Given the description of an element on the screen output the (x, y) to click on. 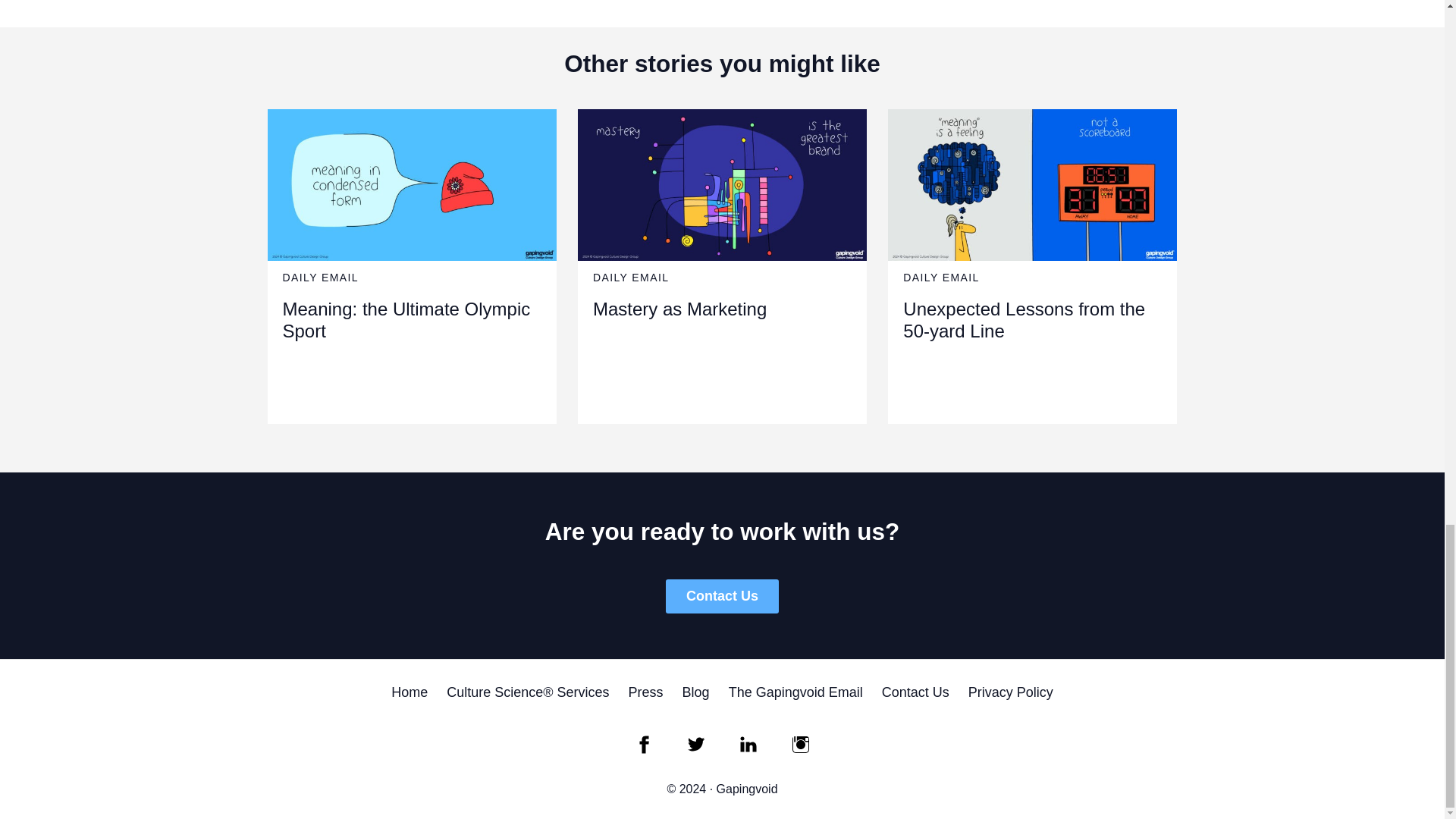
Mastery as Marketing (679, 308)
Meaning: the Ultimate Olympic Sport (405, 319)
DAILY EMAIL (630, 277)
DAILY EMAIL (320, 277)
DAILY EMAIL (940, 277)
